Given the description of an element on the screen output the (x, y) to click on. 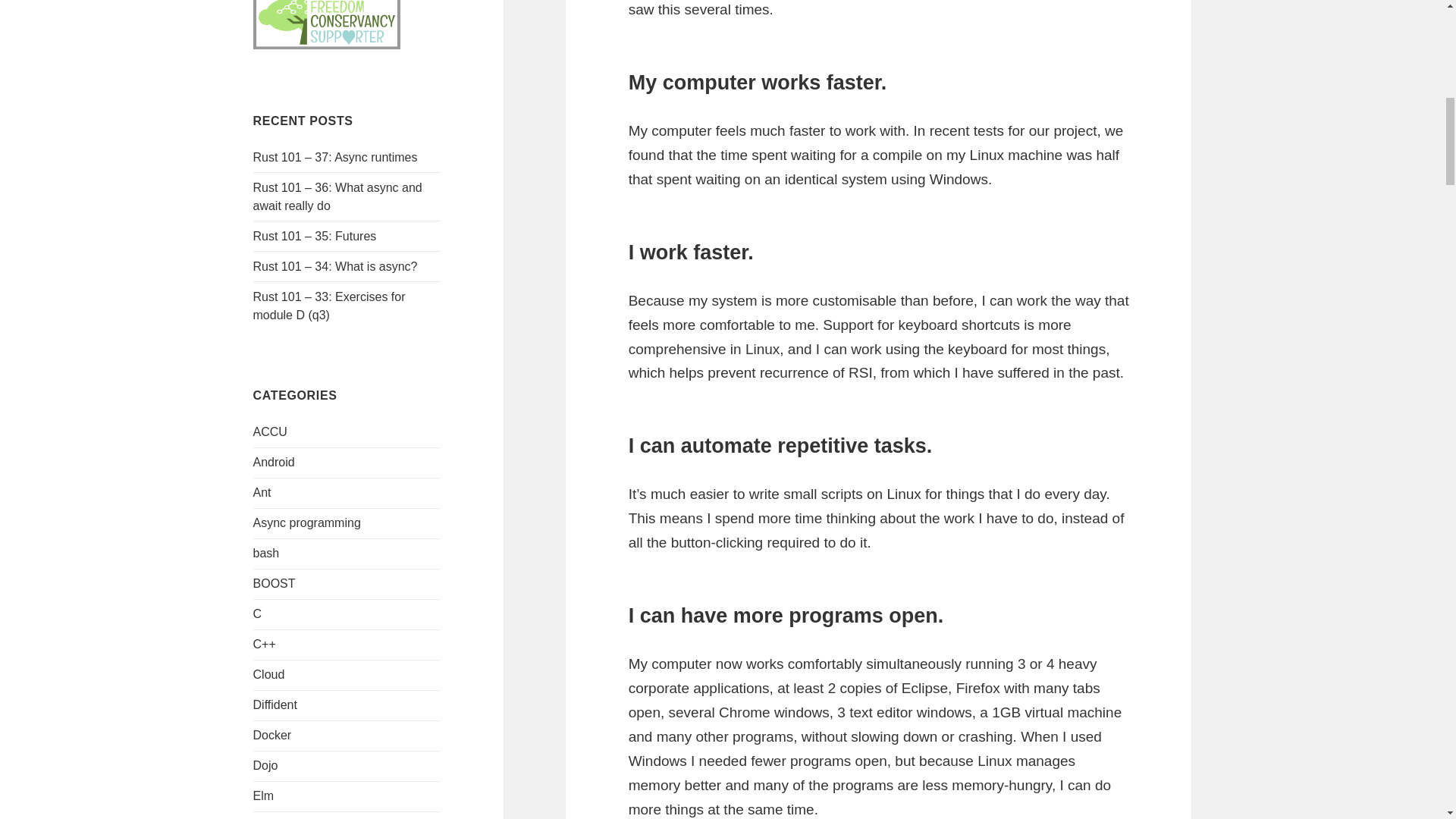
Android (274, 461)
Ant (261, 492)
ACCU (269, 431)
Elm (264, 795)
Diffident (275, 704)
Dojo (265, 765)
bash (266, 553)
Async programming (307, 522)
Docker (272, 735)
Cloud (269, 674)
BOOST (274, 583)
